Given the description of an element on the screen output the (x, y) to click on. 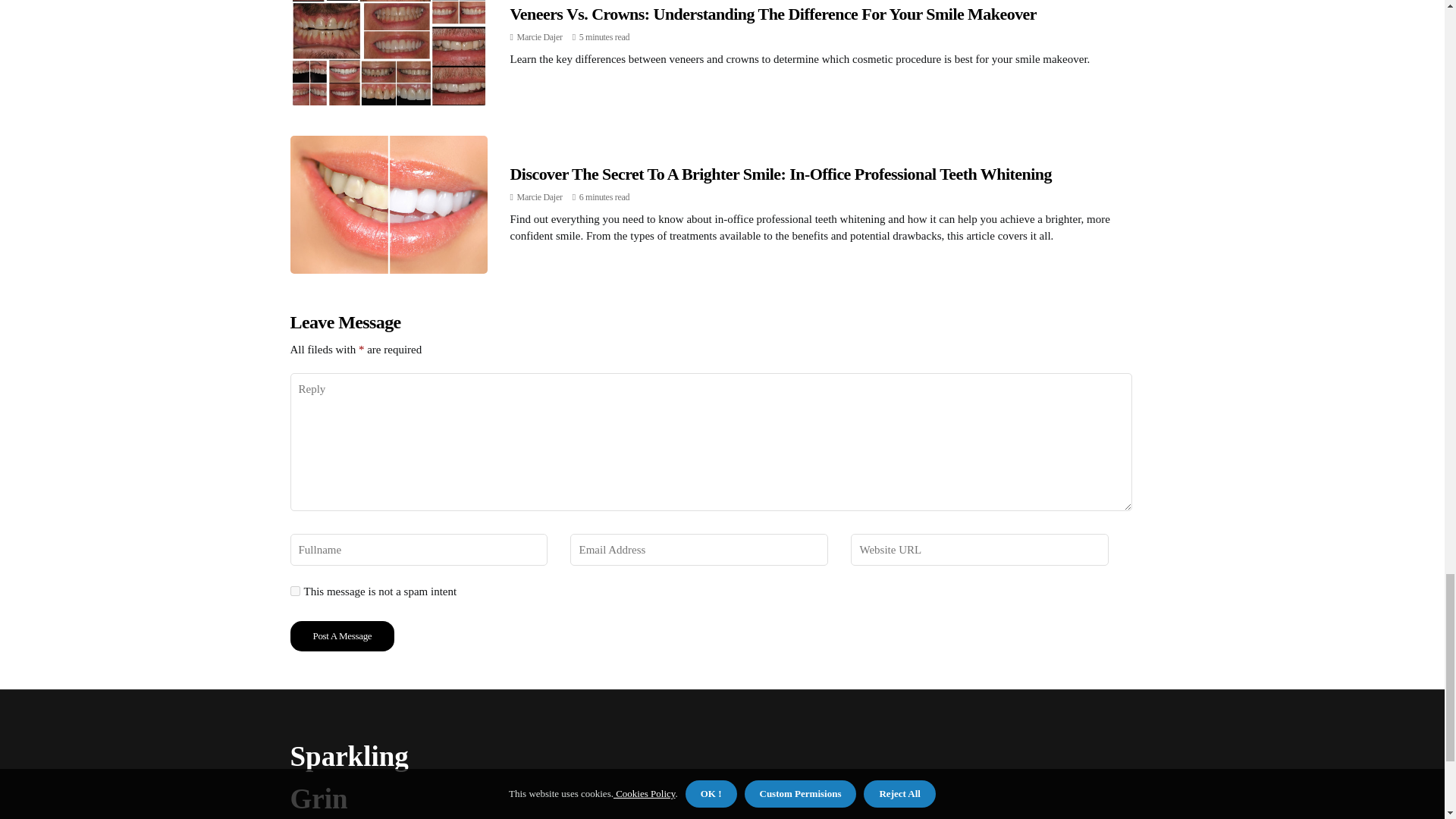
Posts by Marcie Dajer (539, 196)
Posts by Marcie Dajer (539, 36)
Post a Message (341, 635)
yes (294, 591)
